Given the description of an element on the screen output the (x, y) to click on. 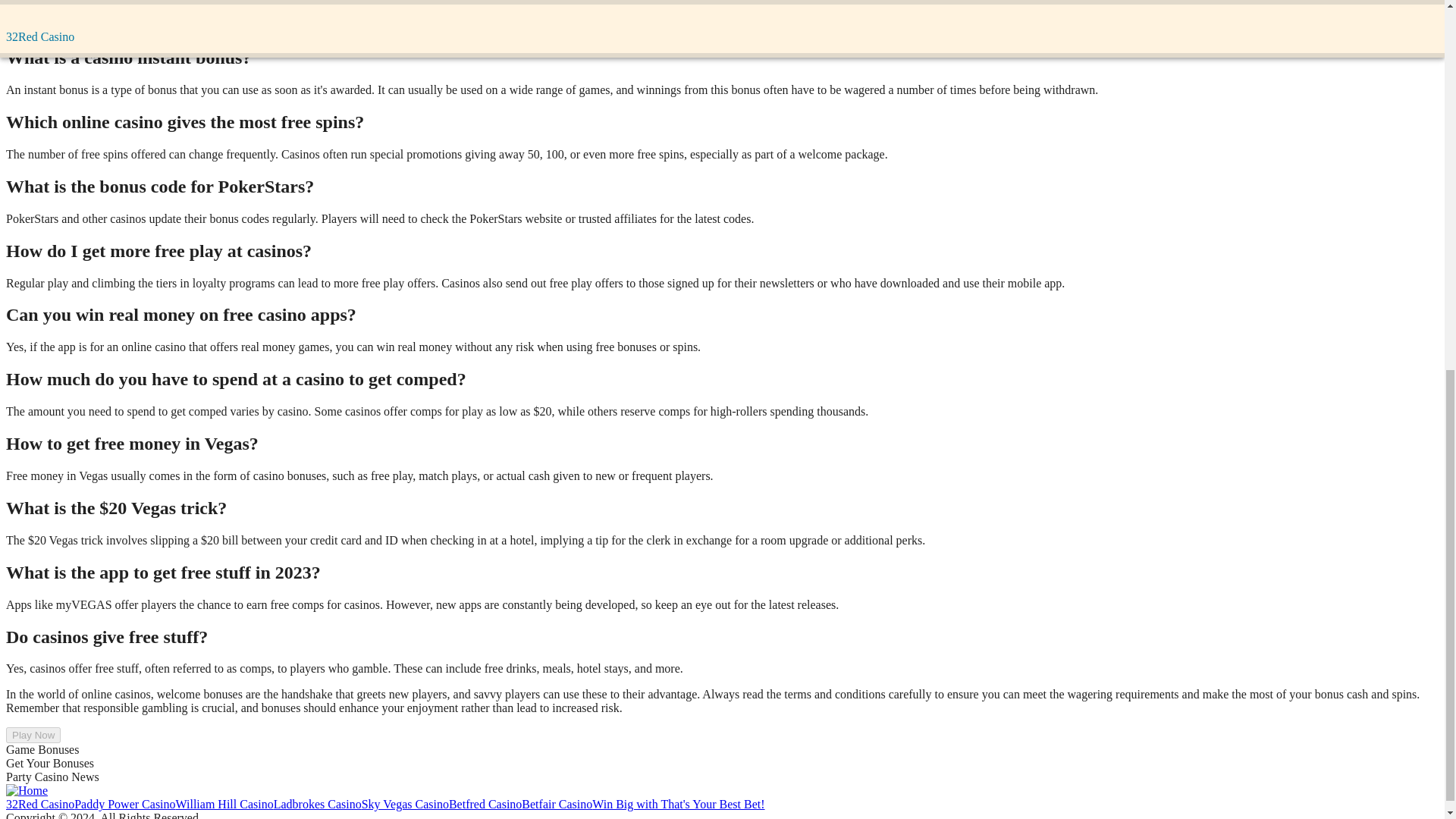
Paddy Power Casino (124, 803)
William Hill Casino (224, 803)
32Red Casino (39, 803)
Sky Vegas Casino (404, 803)
Betfair Casino (556, 803)
Betfred Casino (484, 803)
Play Now (33, 734)
Ladbrokes Casino (317, 803)
Win Big with That's Your Best Bet! (678, 803)
